Given the description of an element on the screen output the (x, y) to click on. 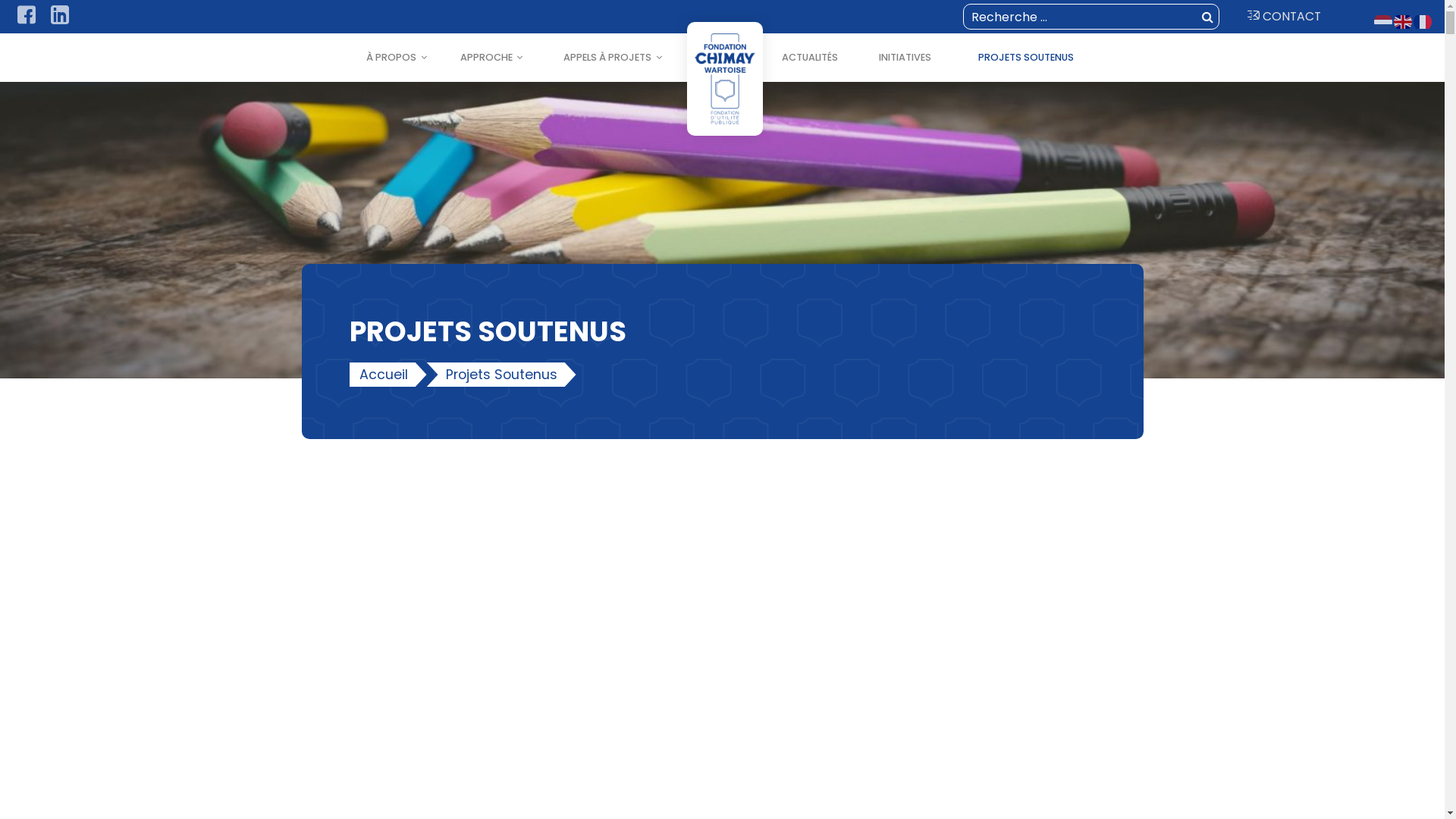
Recherche pour : Element type: hover (1091, 16)
Dutch Element type: hover (1383, 21)
CONTACT Element type: text (1287, 16)
English Element type: hover (1403, 21)
PROJETS SOUTENUS Element type: text (1026, 57)
INITIATIVES Element type: text (903, 57)
Accueil Element type: text (387, 374)
Fondation Chimay-Wartoise Element type: text (207, 71)
French Element type: hover (1423, 21)
APPROCHE Element type: text (491, 57)
